Given the description of an element on the screen output the (x, y) to click on. 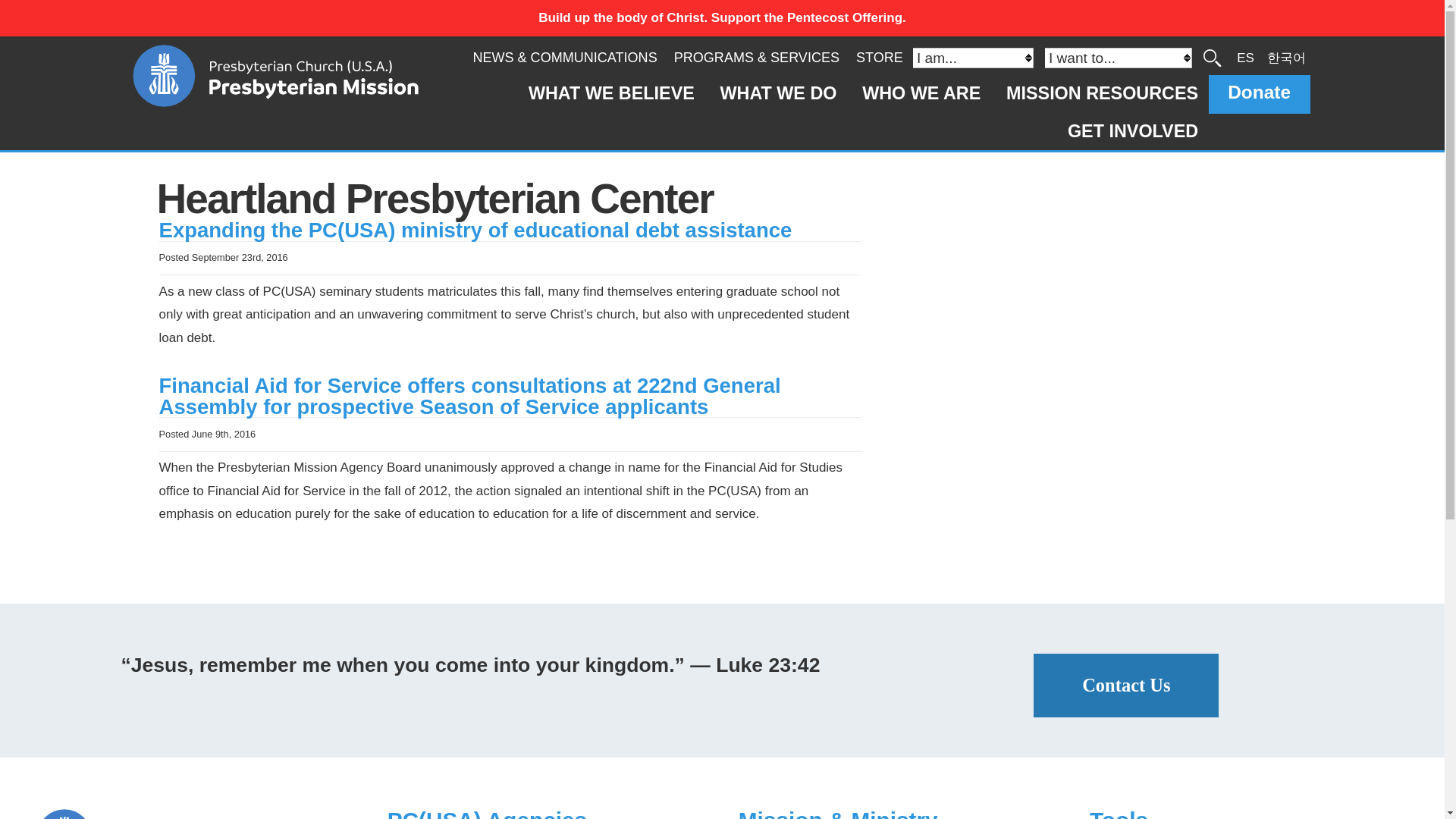
Follow Us on Social Media (195, 814)
Build up the body of Christ. Support the Pentecost Offering. (721, 17)
STORE (879, 57)
